Given the description of an element on the screen output the (x, y) to click on. 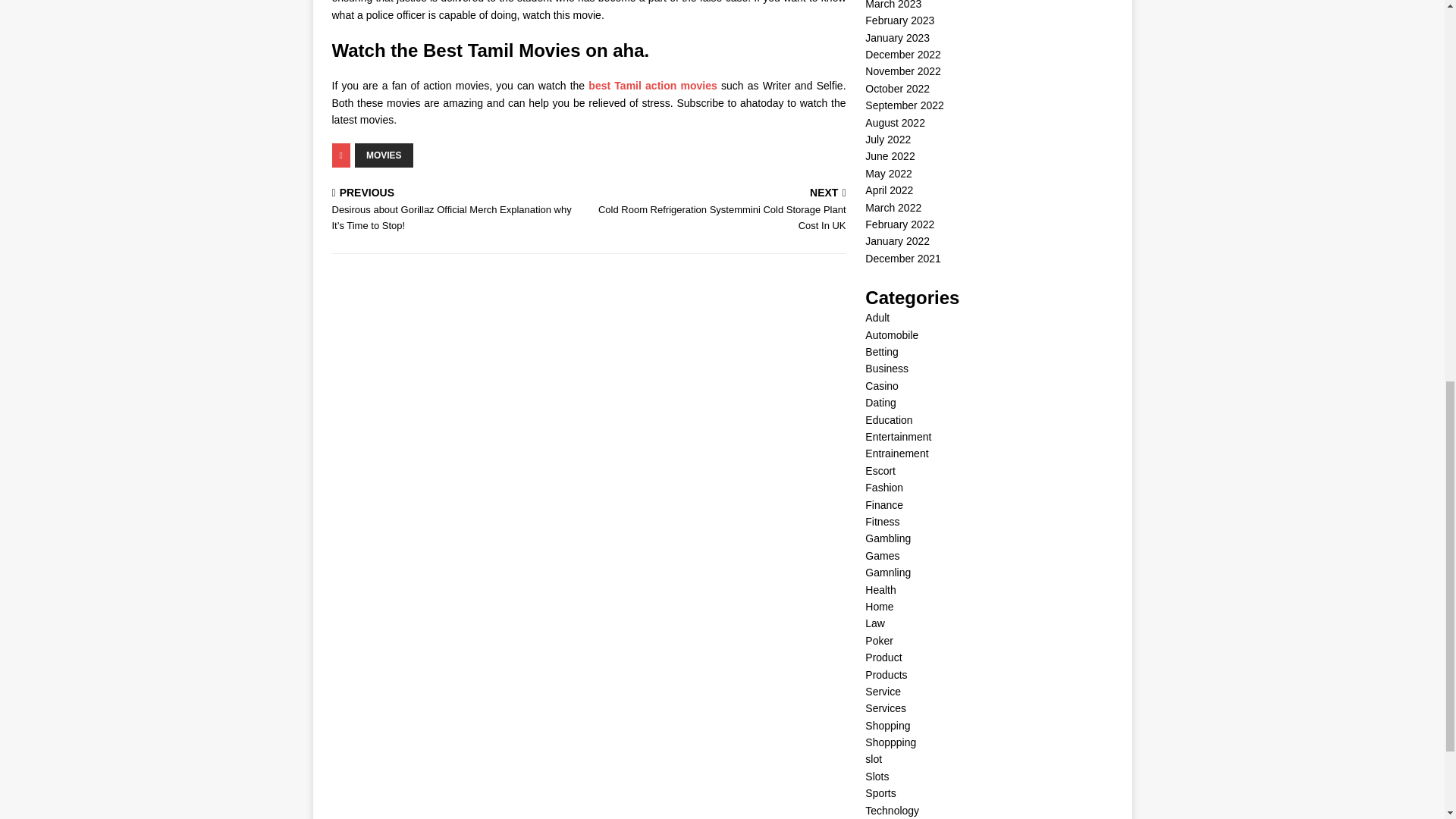
March 2023 (892, 4)
best Tamil action movies (652, 85)
January 2023 (897, 37)
December 2022 (902, 54)
MOVIES (384, 155)
February 2023 (899, 20)
